Given the description of an element on the screen output the (x, y) to click on. 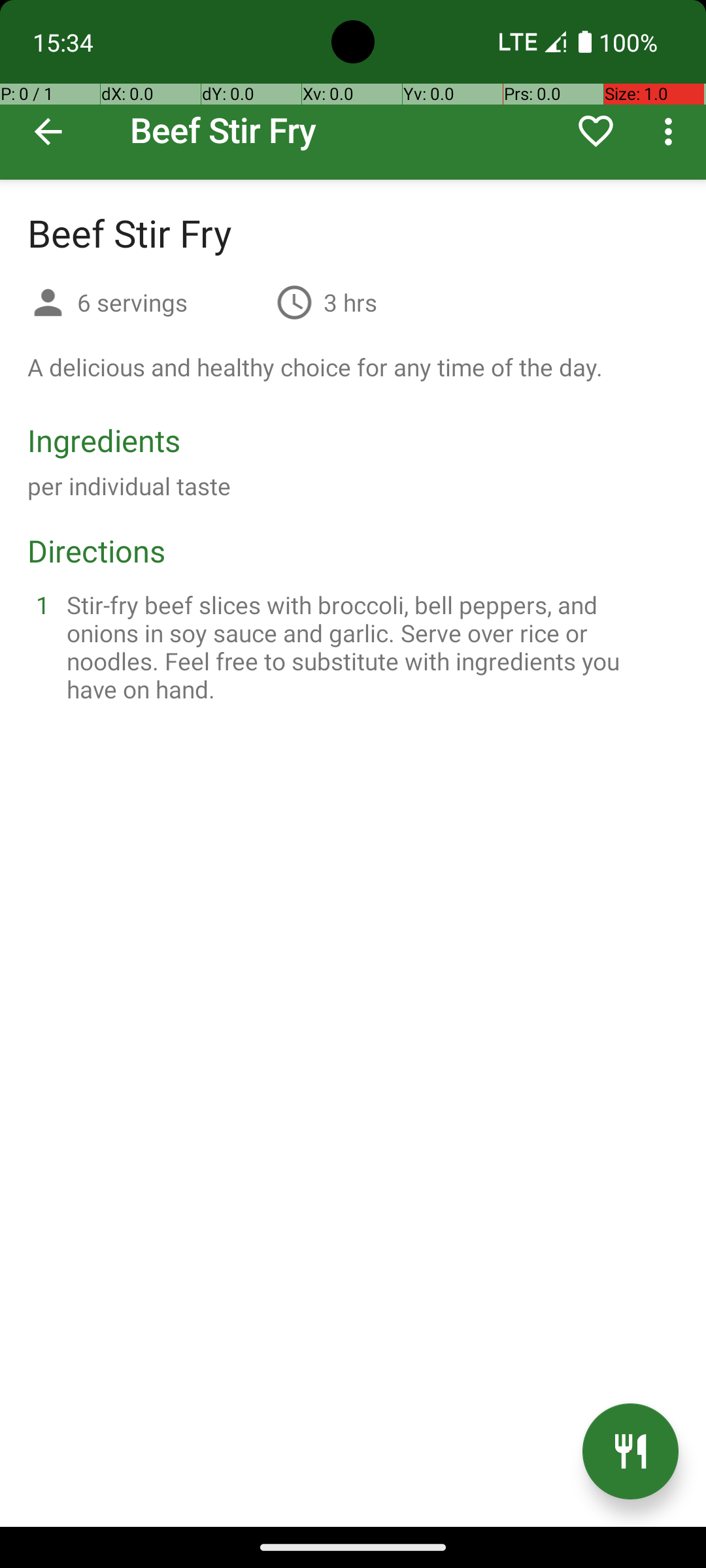
Stir-fry beef slices with broccoli, bell peppers, and onions in soy sauce and garlic. Serve over rice or noodles. Feel free to substitute with ingredients you have on hand. Element type: android.widget.TextView (368, 646)
